Given the description of an element on the screen output the (x, y) to click on. 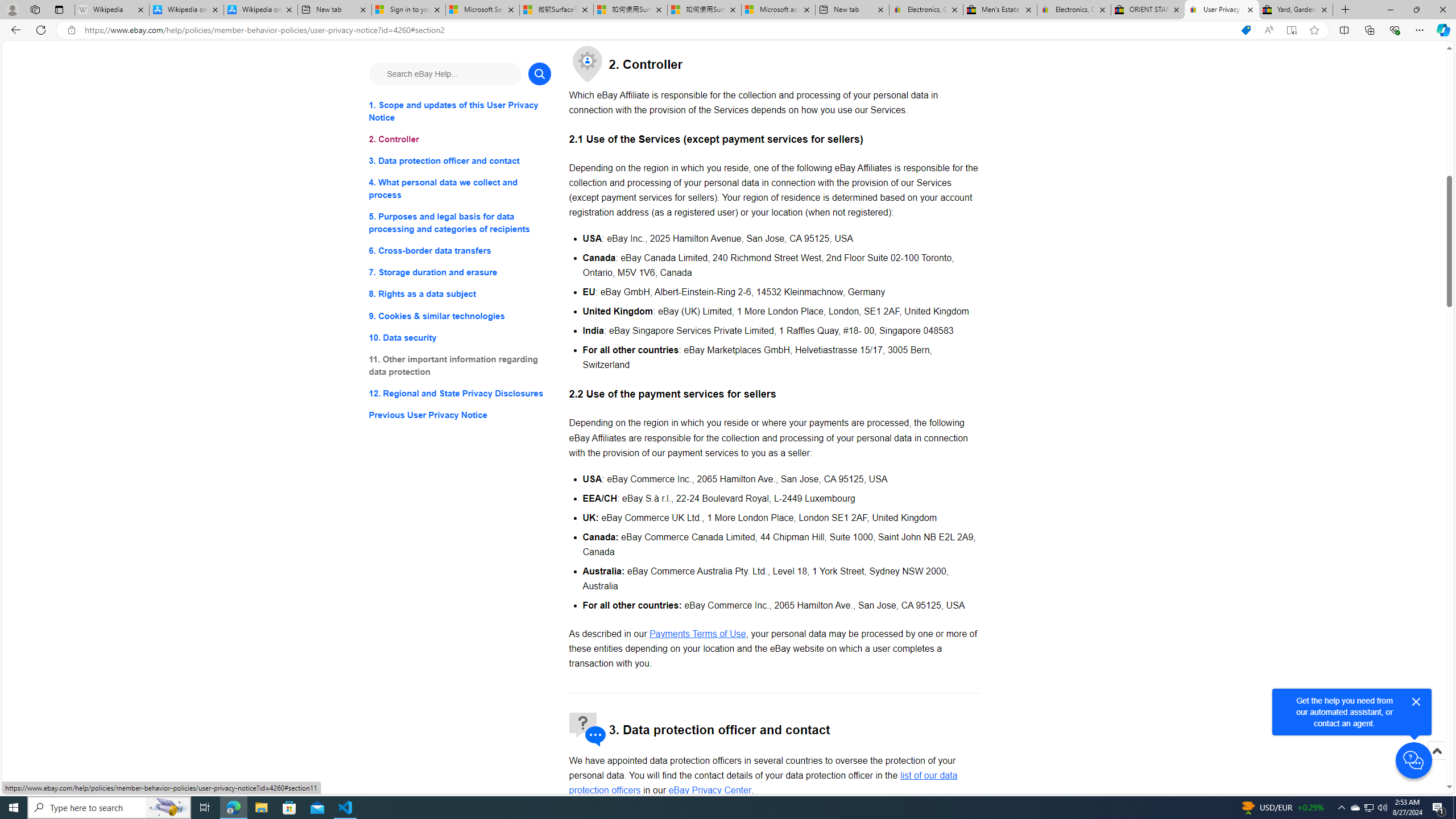
9. Cookies & similar technologies (459, 315)
7. Storage duration and erasure (459, 272)
8. Rights as a data subject (459, 293)
7. Storage duration and erasure (459, 272)
1. Scope and updates of this User Privacy Notice (459, 111)
3. Data protection officer and contact (459, 160)
This site has coupons! Shopping in Microsoft Edge (1245, 29)
Scroll to top (1435, 750)
1. Scope and updates of this User Privacy Notice (459, 111)
